Given the description of an element on the screen output the (x, y) to click on. 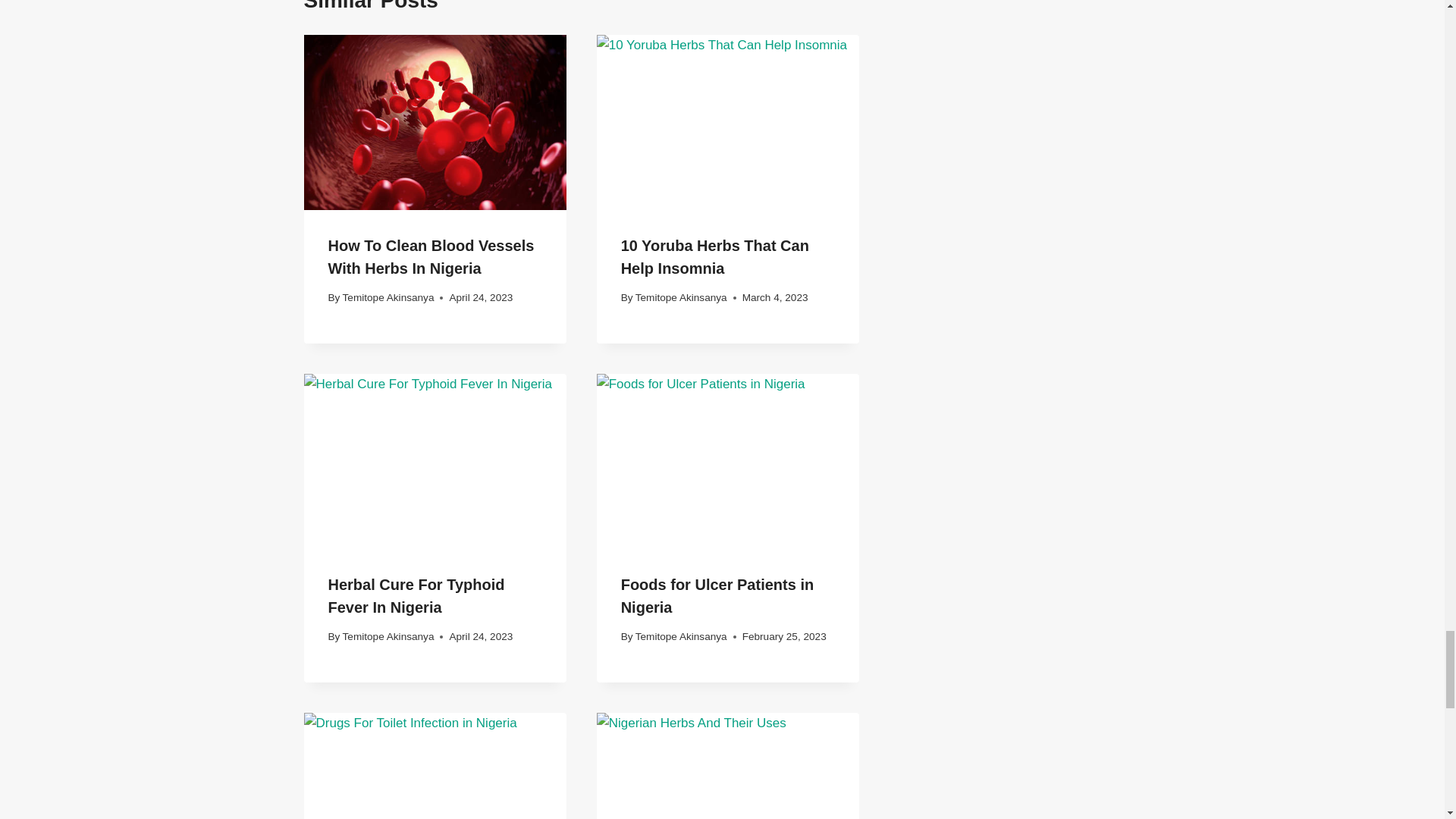
How To Clean Blood Vessels With Herbs In Nigeria  (430, 256)
Temitope Akinsanya (680, 297)
Foods for Ulcer Patients in Nigeria   (717, 595)
10 Yoruba Herbs That Can Help Insomnia (715, 256)
Temitope Akinsanya (387, 297)
Herbal Cure For Typhoid Fever In Nigeria  (415, 595)
Temitope Akinsanya (387, 636)
Temitope Akinsanya (680, 636)
